Given the description of an element on the screen output the (x, y) to click on. 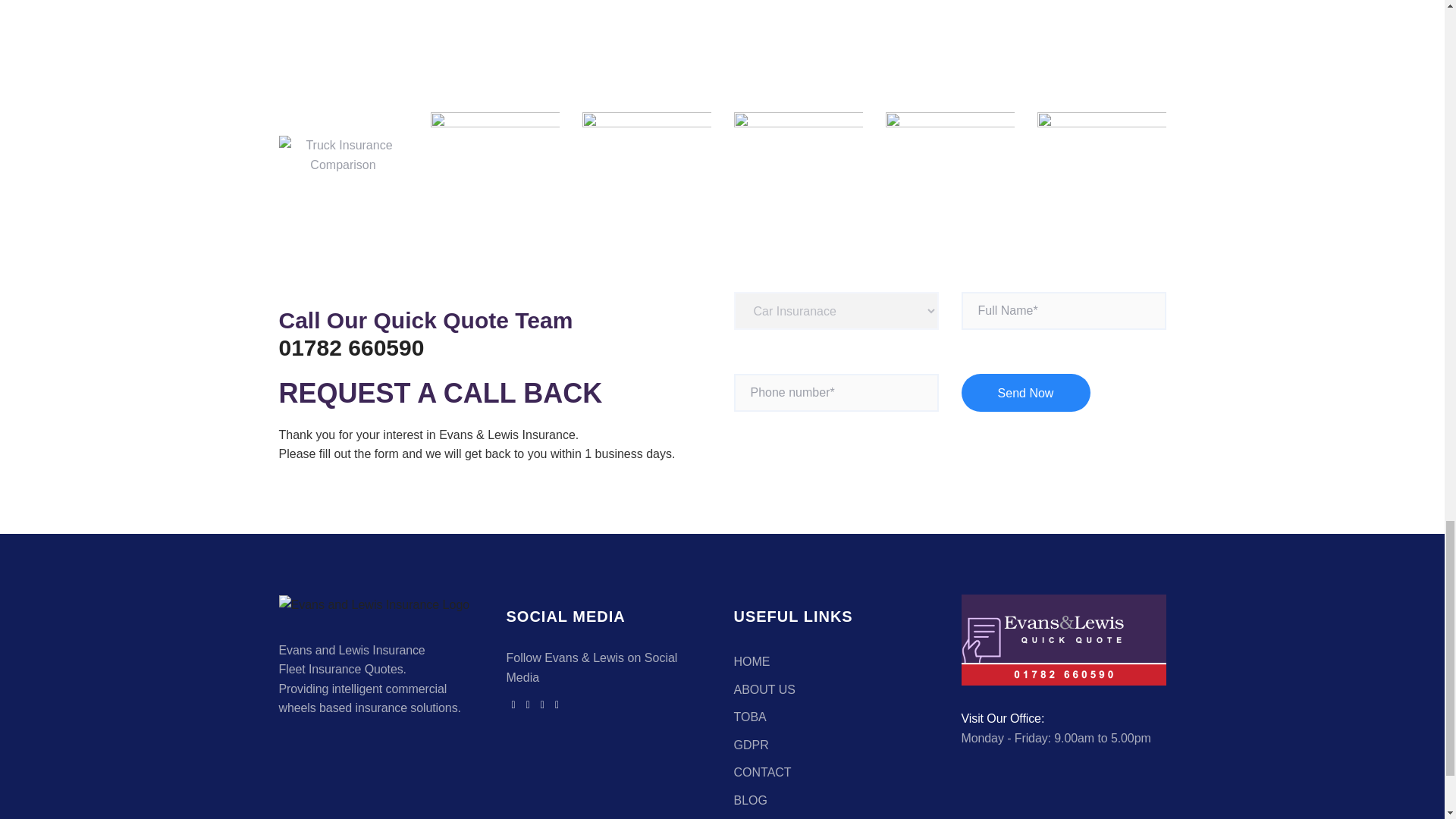
CONTACT (762, 771)
GDPR (750, 744)
amlin (646, 155)
aviva (798, 155)
BLOG (750, 799)
axa (1101, 155)
Send Now (1025, 392)
TOBA (750, 716)
equity (949, 155)
HOME (751, 661)
